Given the description of an element on the screen output the (x, y) to click on. 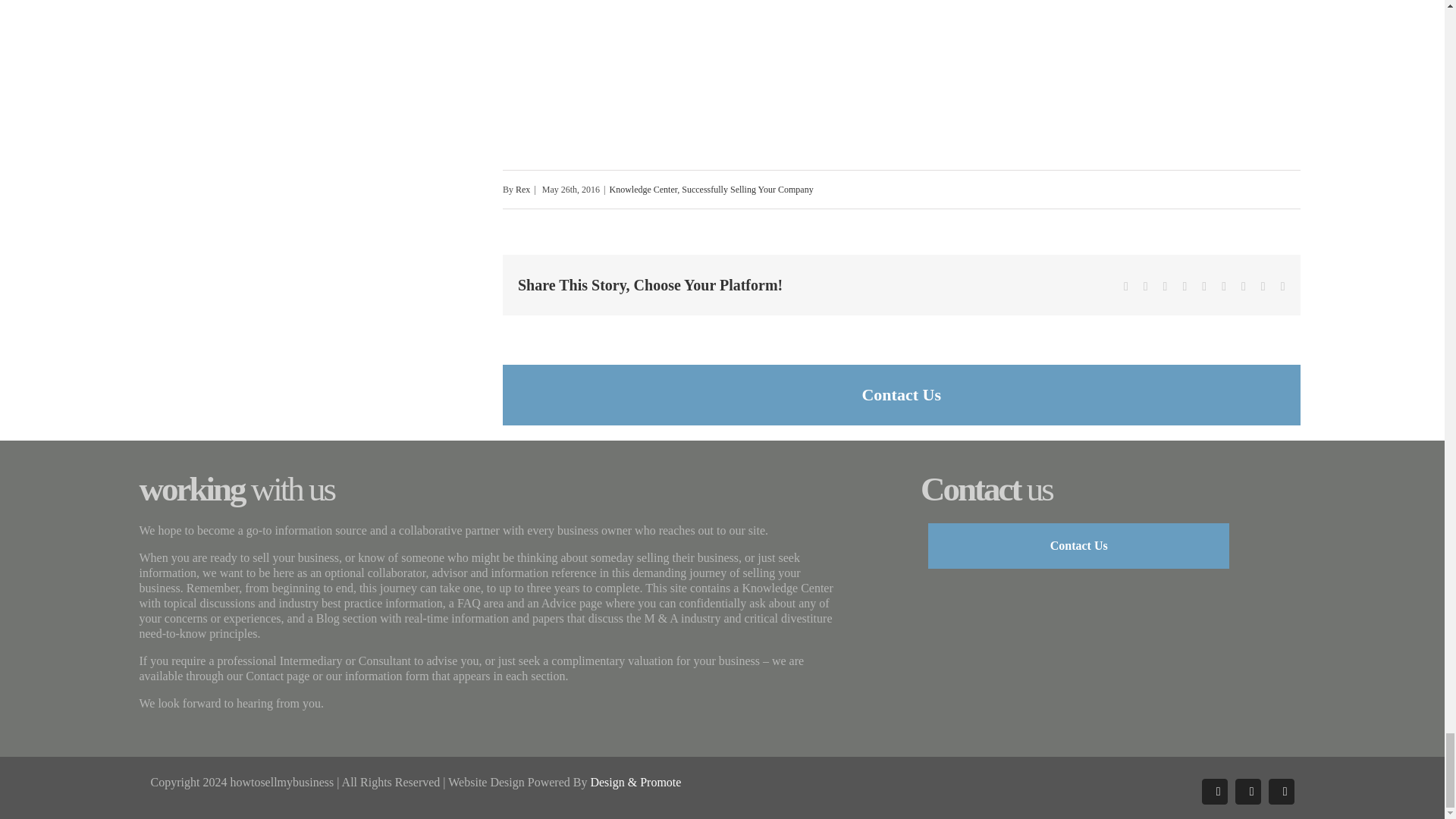
Rex (522, 189)
Twitter (1145, 286)
Linkedin (1165, 286)
Posts by Rex (522, 189)
Successfully Selling Your Company (746, 189)
Reddit (1184, 286)
Knowledge Center (642, 189)
Facebook (1126, 286)
Tumblr (1204, 286)
